Given the description of an element on the screen output the (x, y) to click on. 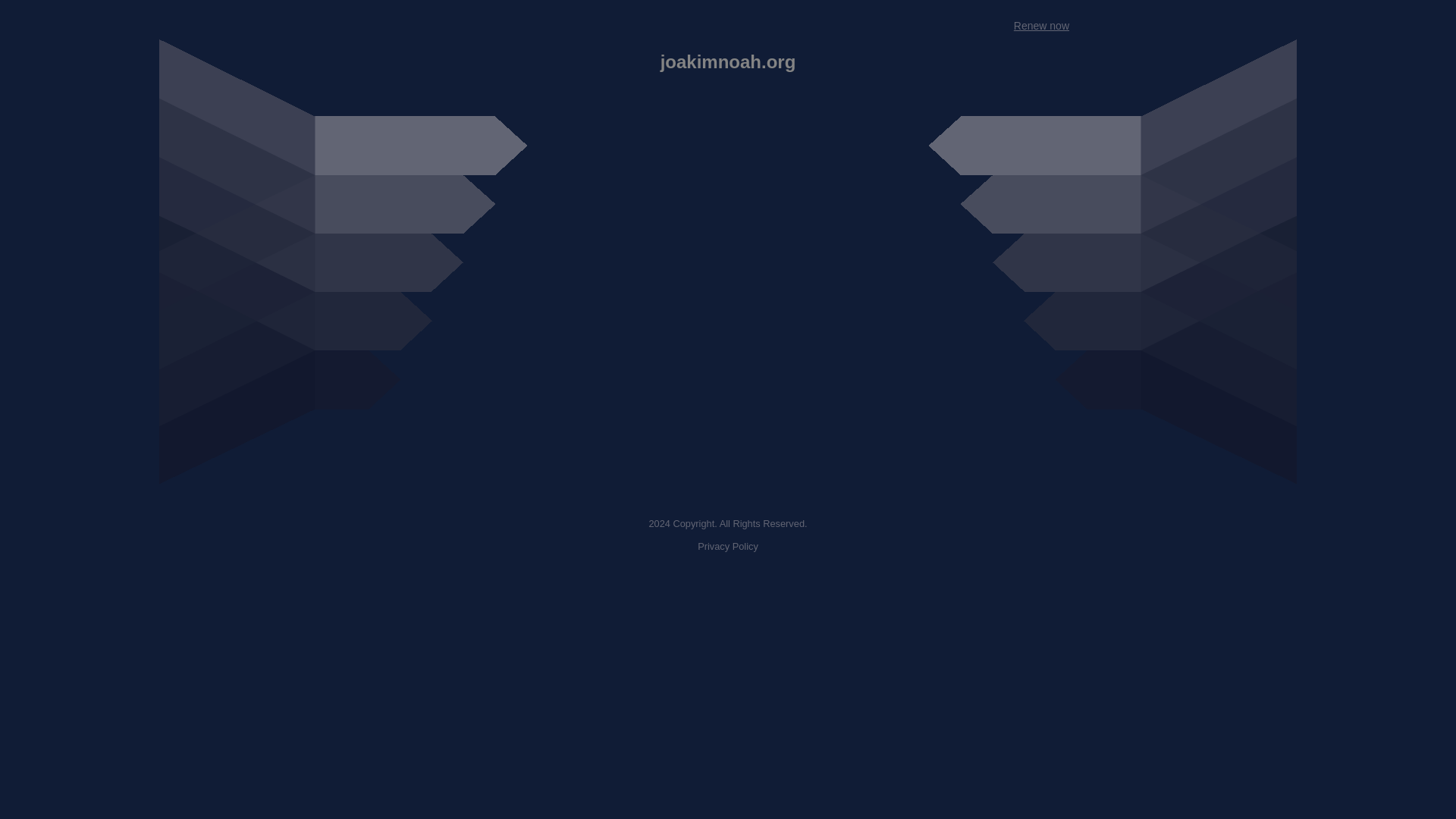
Renew now (1040, 25)
Privacy Policy (727, 546)
